Given the description of an element on the screen output the (x, y) to click on. 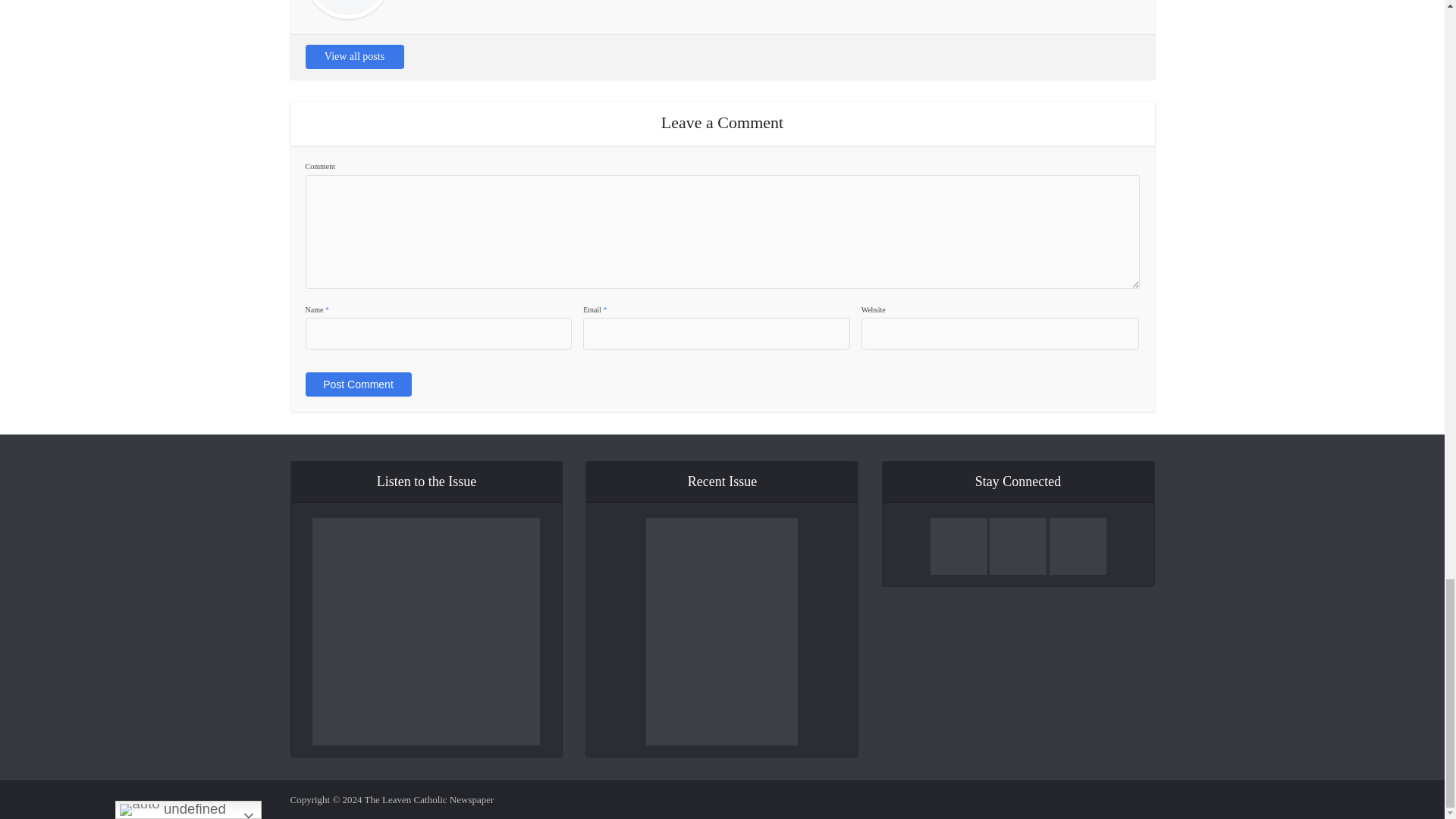
Post Comment (357, 384)
